Given the description of an element on the screen output the (x, y) to click on. 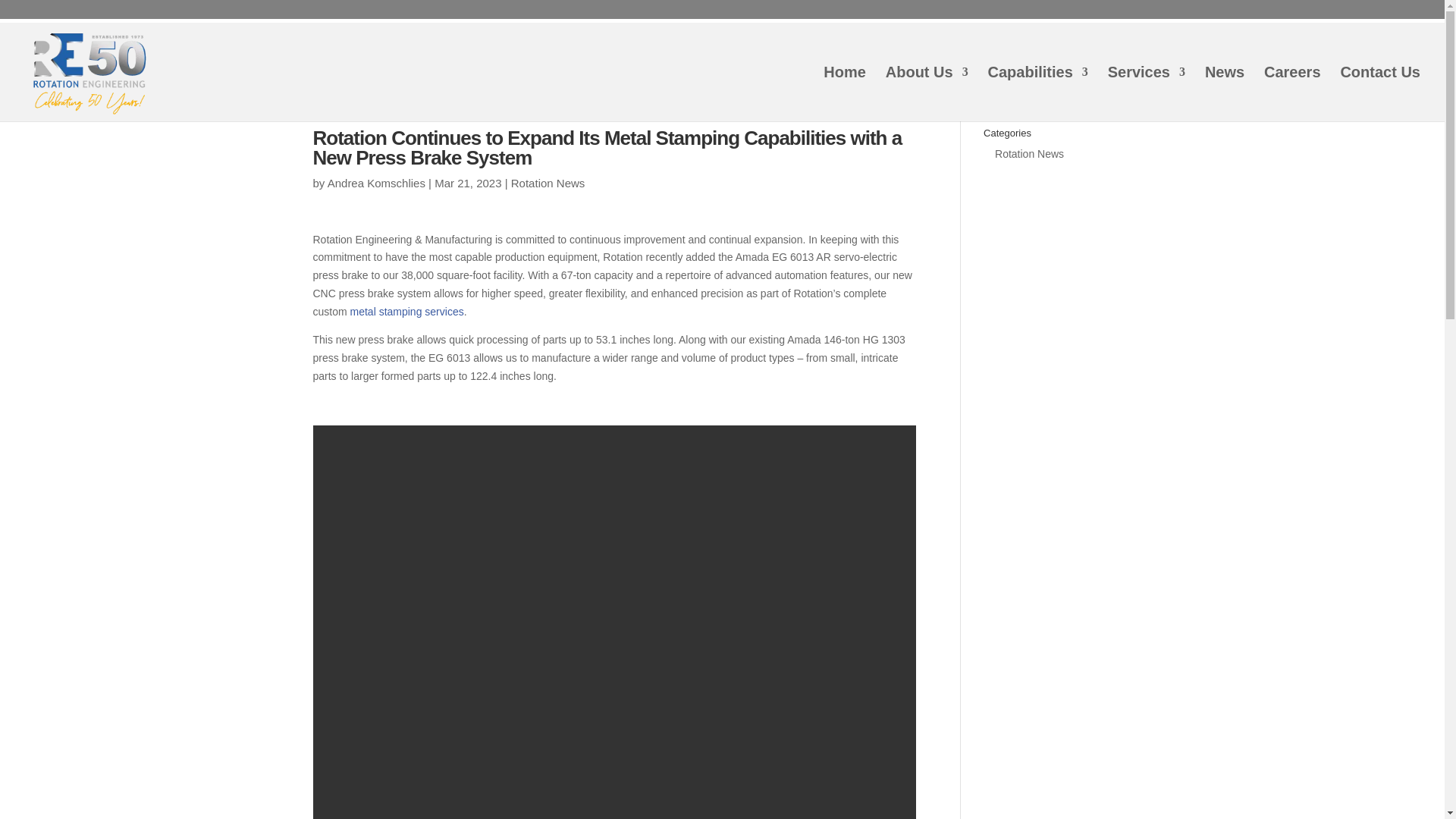
Rotation News (548, 182)
Home (845, 93)
Posts by Andrea Komschlies (376, 182)
Contact Us (1380, 93)
Services (1146, 93)
Careers (1291, 93)
Rotation News (1029, 153)
About Us (926, 93)
metal stamping services (407, 311)
News (1224, 93)
Andrea Komschlies (376, 182)
Capabilities (1037, 93)
